Given the description of an element on the screen output the (x, y) to click on. 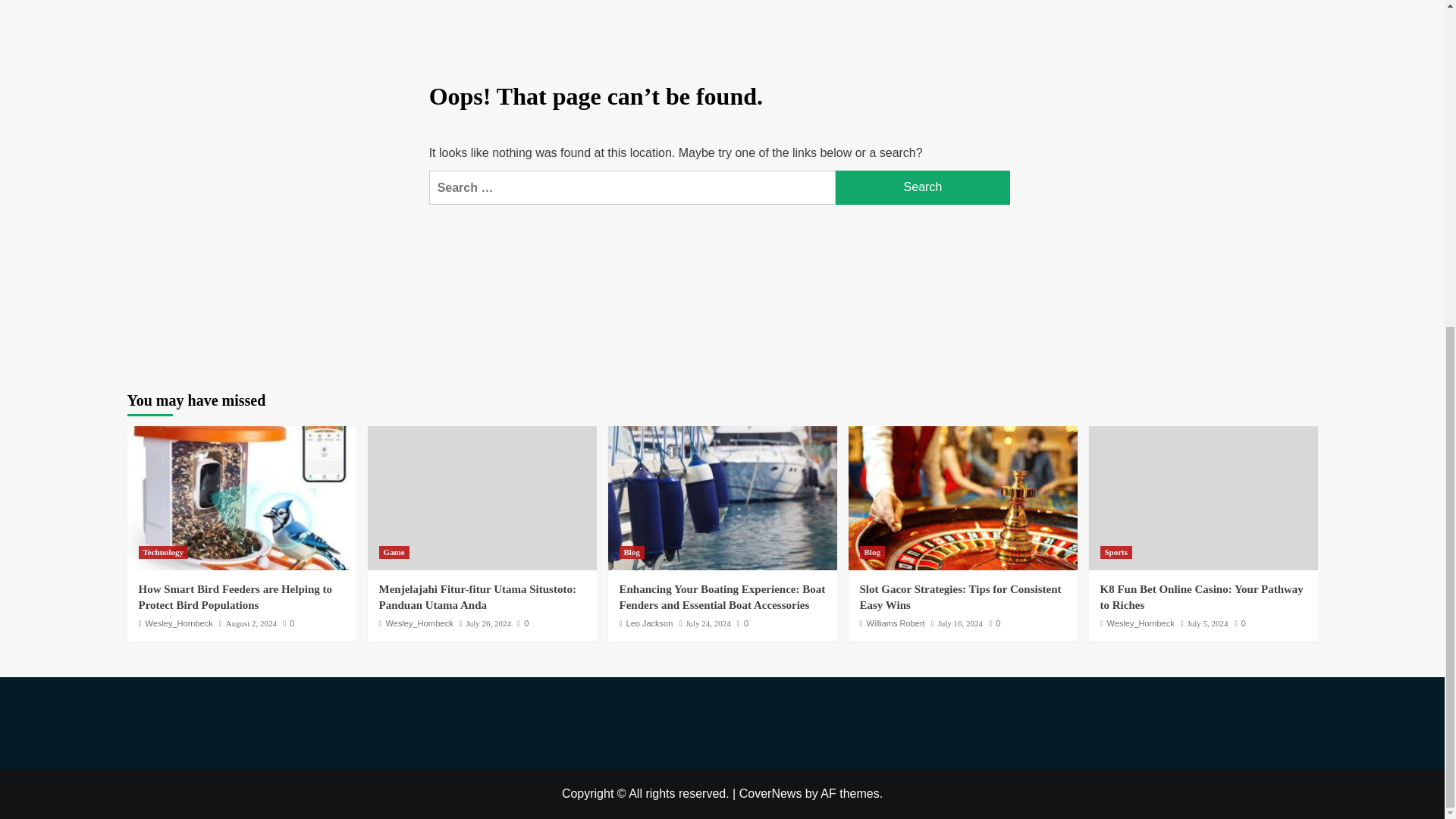
Search (922, 187)
0 (288, 623)
Game (393, 552)
Technology (162, 552)
Menjelajahi Fitur-fitur Utama Situstoto: Panduan Utama Anda (477, 596)
July 24, 2024 (707, 623)
July 26, 2024 (488, 623)
August 2, 2024 (251, 623)
0 (522, 623)
Blog (872, 552)
July 16, 2024 (959, 623)
Search (922, 187)
Williams Robert (895, 623)
Slot Gacor Strategies: Tips for Consistent Easy Wins (960, 596)
